Given the description of an element on the screen output the (x, y) to click on. 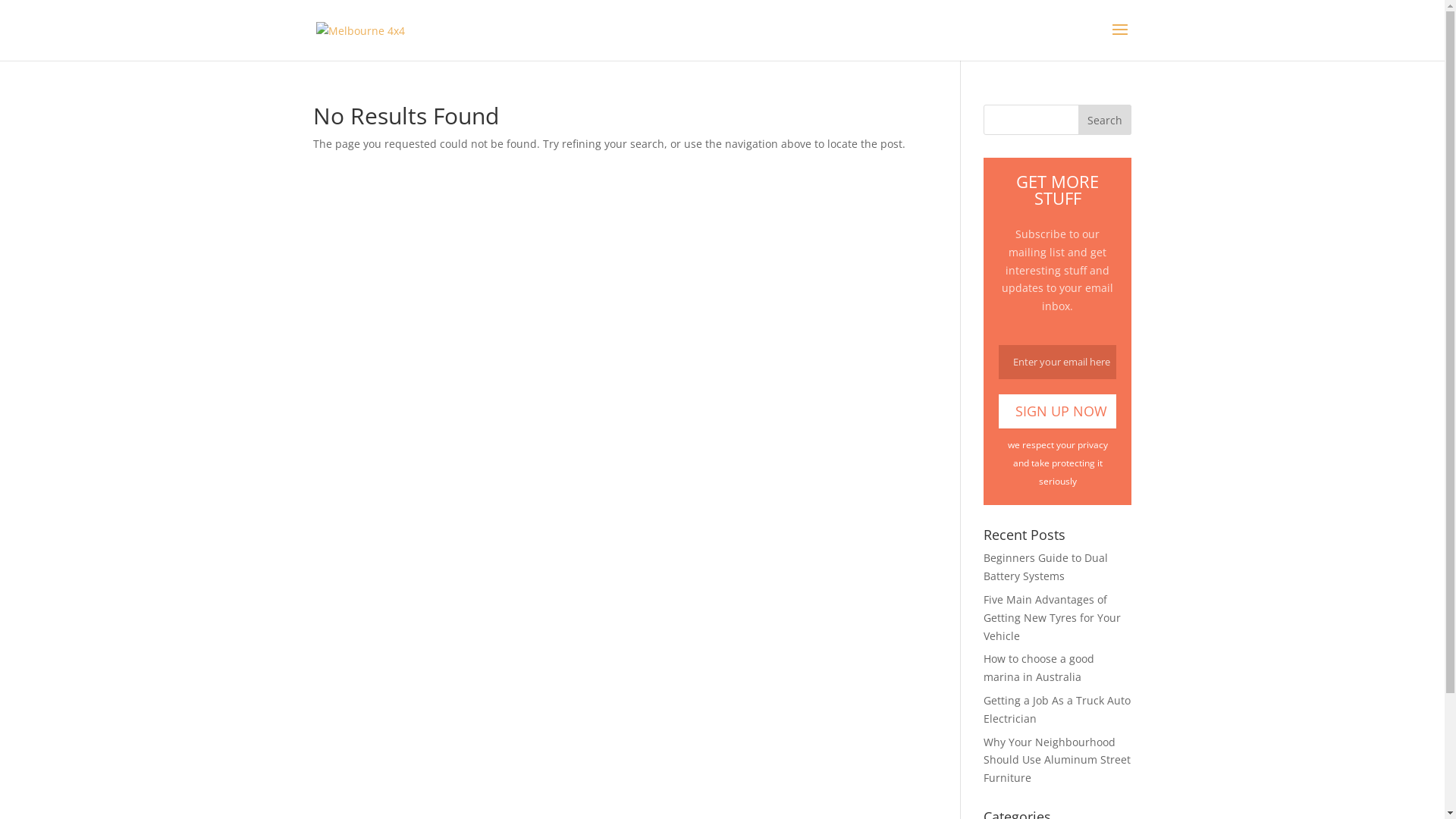
How to choose a good marina in Australia Element type: text (1038, 667)
Search Element type: text (1104, 119)
Why Your Neighbourhood Should Use Aluminum Street Furniture Element type: text (1056, 759)
Sign Up Now Element type: text (1057, 411)
Getting a Job As a Truck Auto Electrician Element type: text (1056, 709)
Five Main Advantages of Getting New Tyres for Your Vehicle Element type: text (1051, 617)
Beginners Guide to Dual Battery Systems Element type: text (1045, 566)
